Given the description of an element on the screen output the (x, y) to click on. 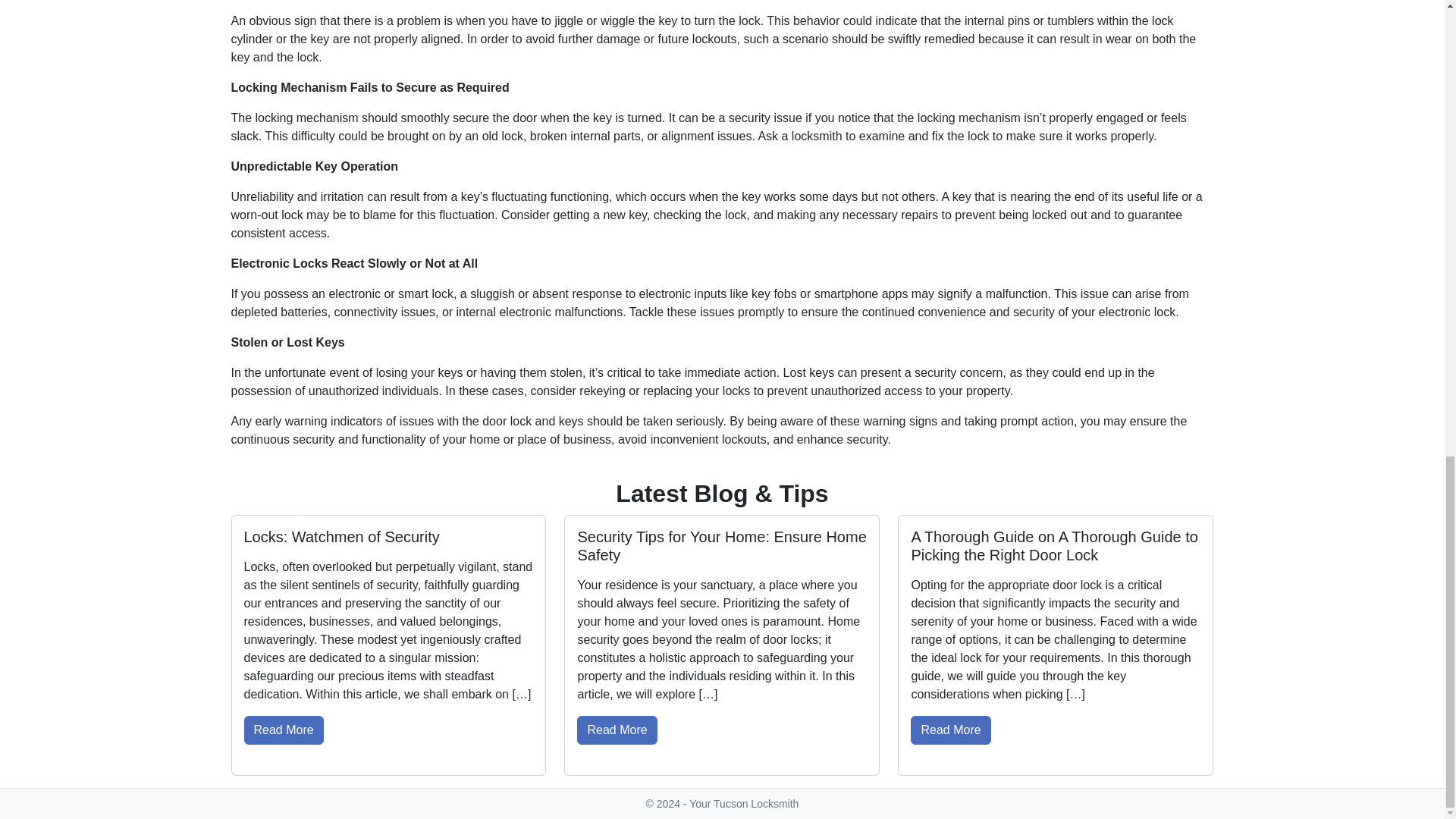
Previous (303, 514)
Read More (616, 729)
Read More (283, 729)
Read More (950, 729)
